Given the description of an element on the screen output the (x, y) to click on. 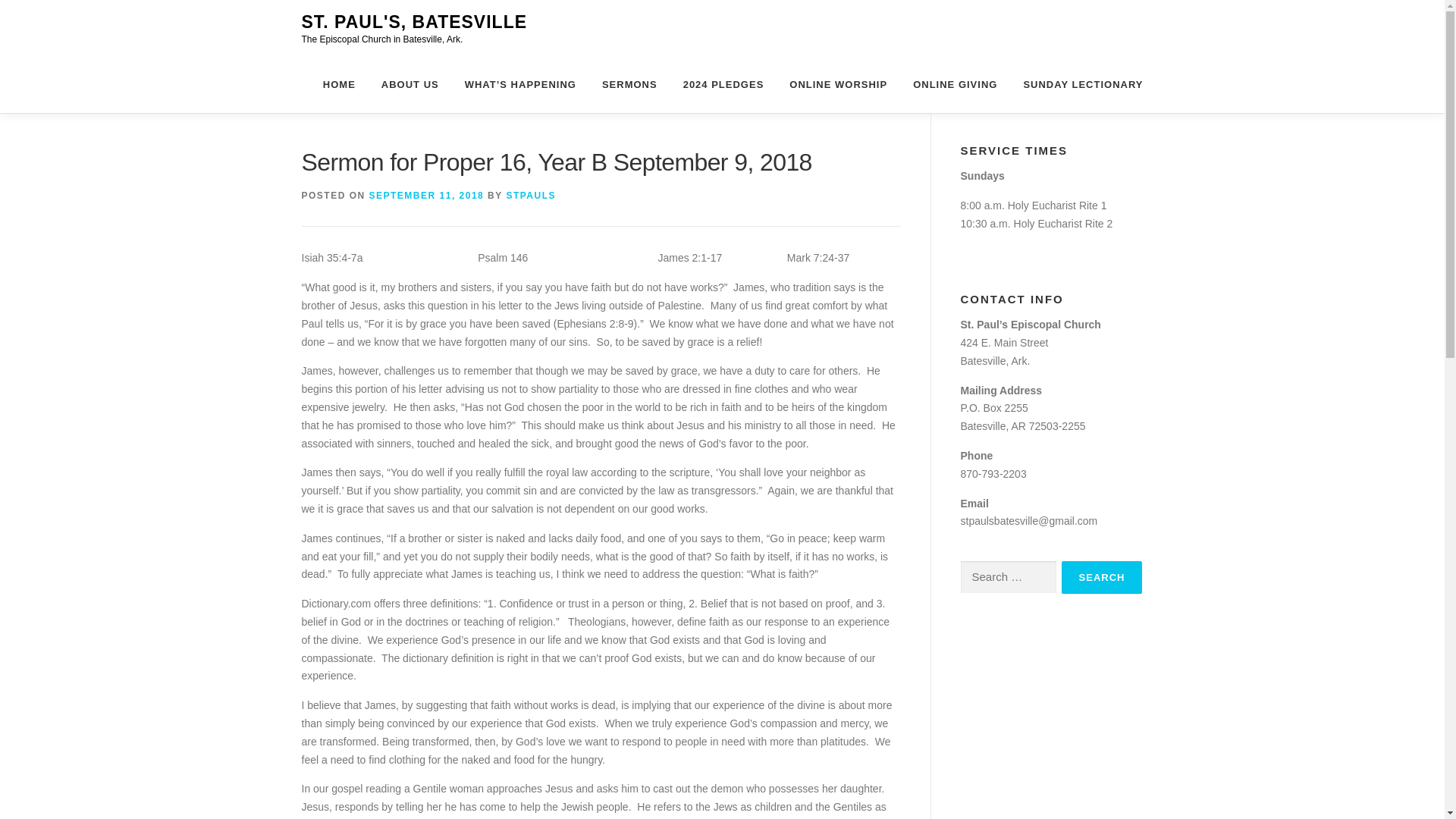
Search (1101, 577)
ST. PAUL'S, BATESVILLE (414, 21)
Search (1101, 577)
2024 PLEDGES (723, 84)
ONLINE WORSHIP (837, 84)
ABOUT US (409, 84)
SERMONS (629, 84)
ONLINE GIVING (954, 84)
Search (1101, 577)
SUNDAY LECTIONARY (1076, 84)
